Given the description of an element on the screen output the (x, y) to click on. 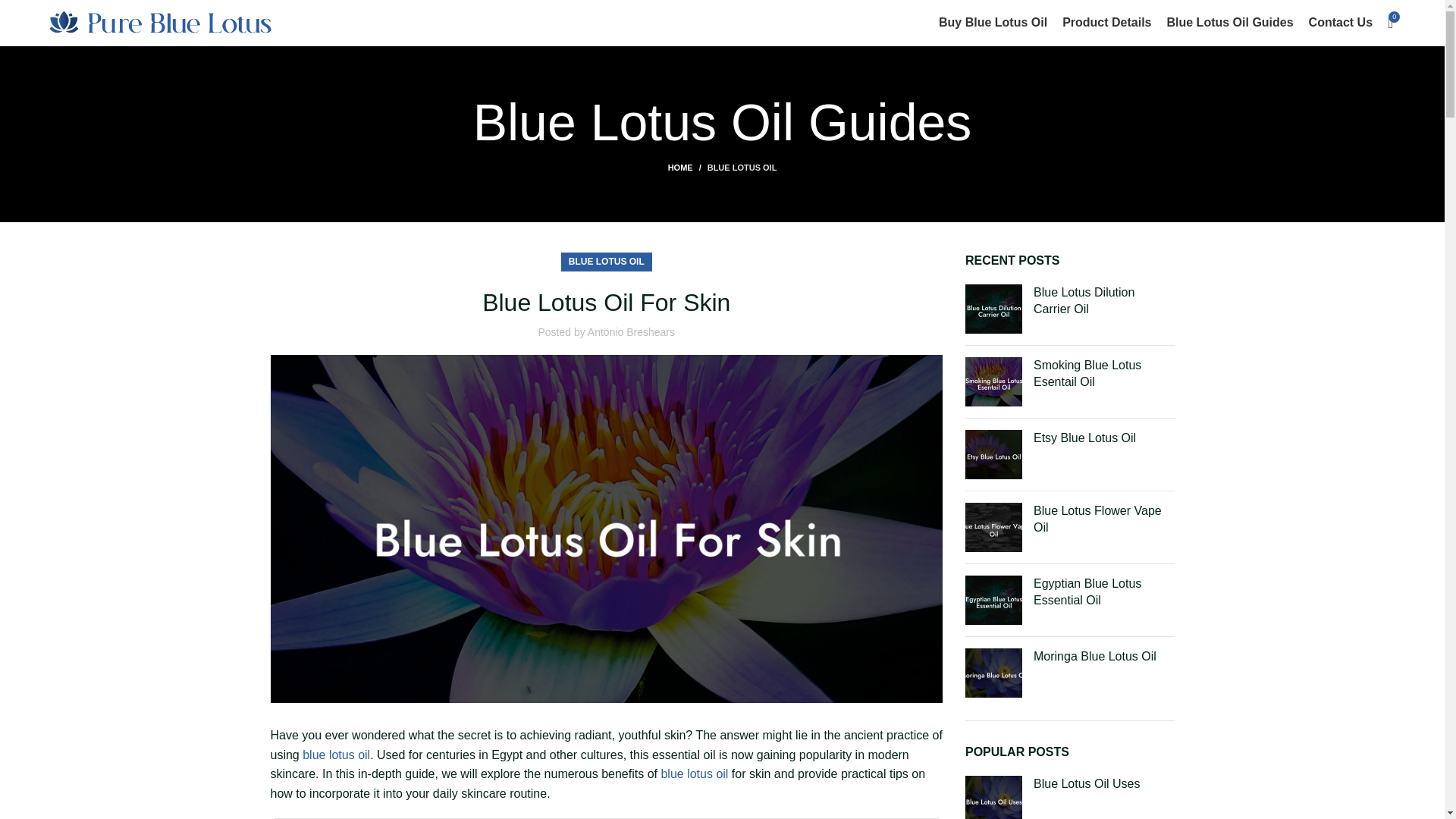
blue lotus oil (694, 773)
BLUE LOTUS OIL (607, 261)
BLUE LOTUS OIL (742, 166)
Blue Lotus Oil Guides (1229, 22)
HOME (687, 167)
Buy Blue Lotus Oil (992, 22)
Antonio Breshears (631, 331)
blue lotus oil (335, 754)
Contact Us (1340, 22)
Product Details (1106, 22)
